Given the description of an element on the screen output the (x, y) to click on. 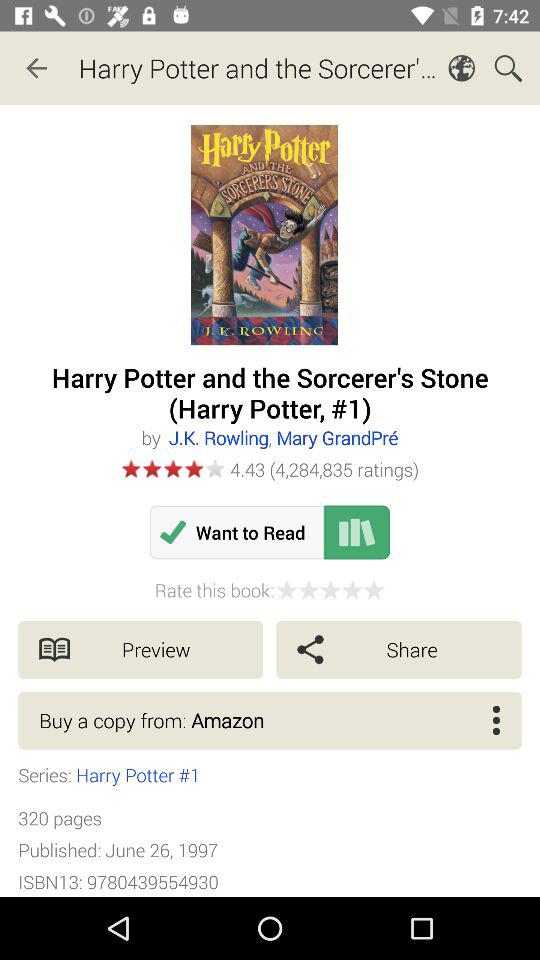
jump to 320 pages published (118, 849)
